Given the description of an element on the screen output the (x, y) to click on. 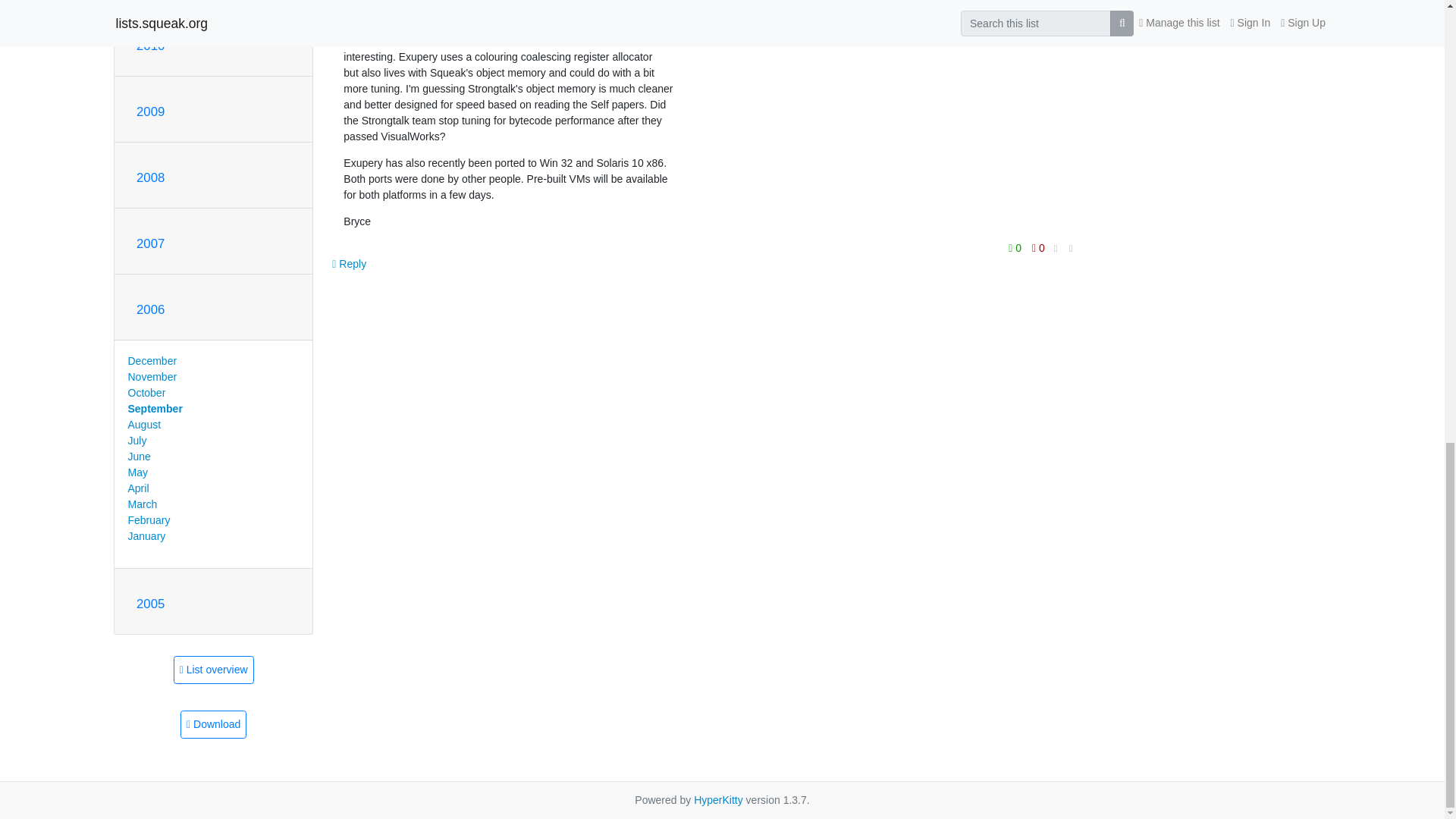
This message in gzipped mbox format (213, 724)
You must be logged-in to vote. (1015, 247)
You must be logged-in to vote. (1037, 247)
Sign in to reply online (349, 263)
